Given the description of an element on the screen output the (x, y) to click on. 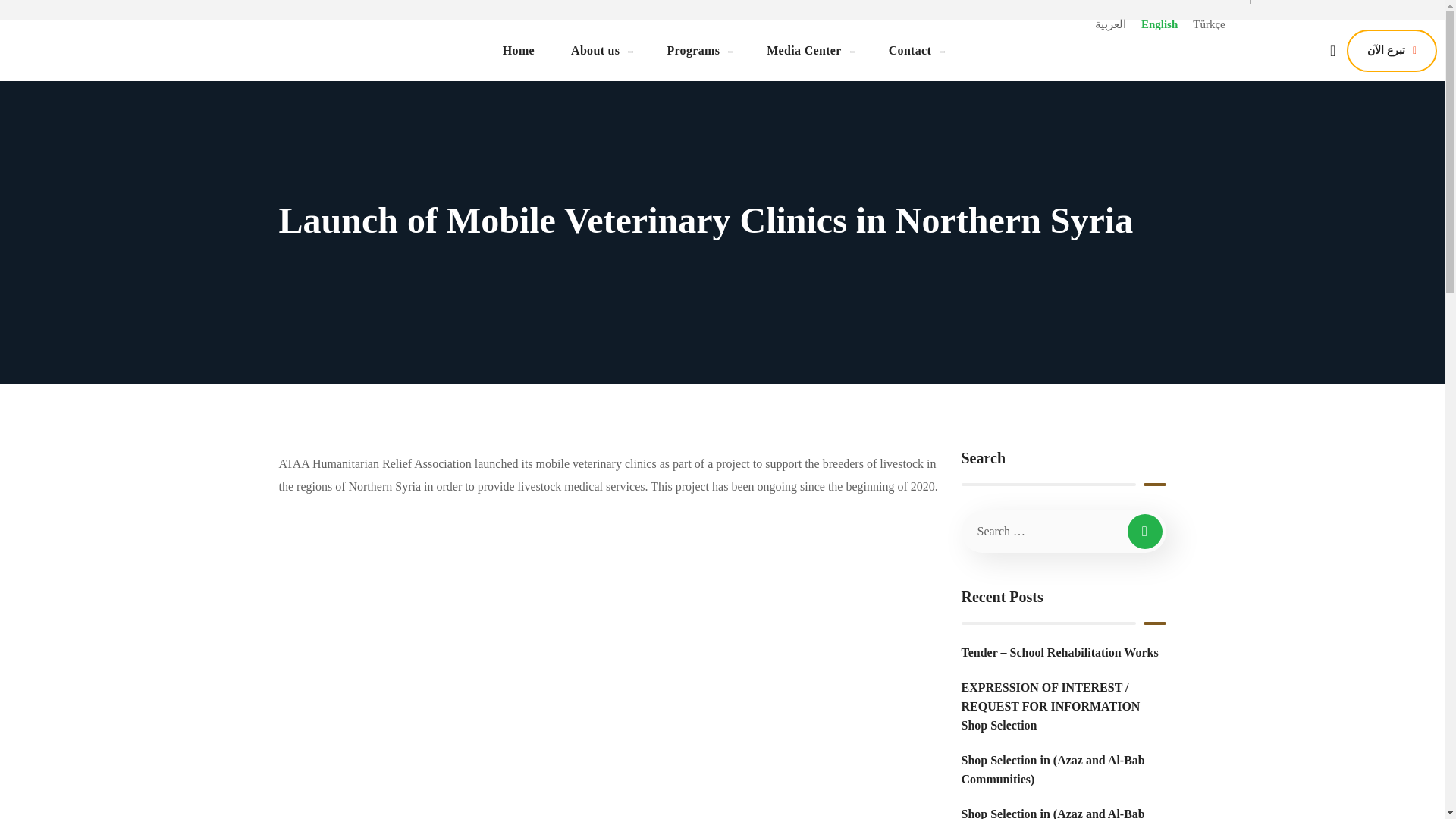
Instagram (1390, 19)
Linkedin (1426, 2)
Twitter (1280, 19)
Facebook (1317, 2)
Linkedin (1426, 19)
Facebook (1317, 19)
English (1159, 24)
Instagram (1390, 2)
Twitter (1280, 2)
